Given the description of an element on the screen output the (x, y) to click on. 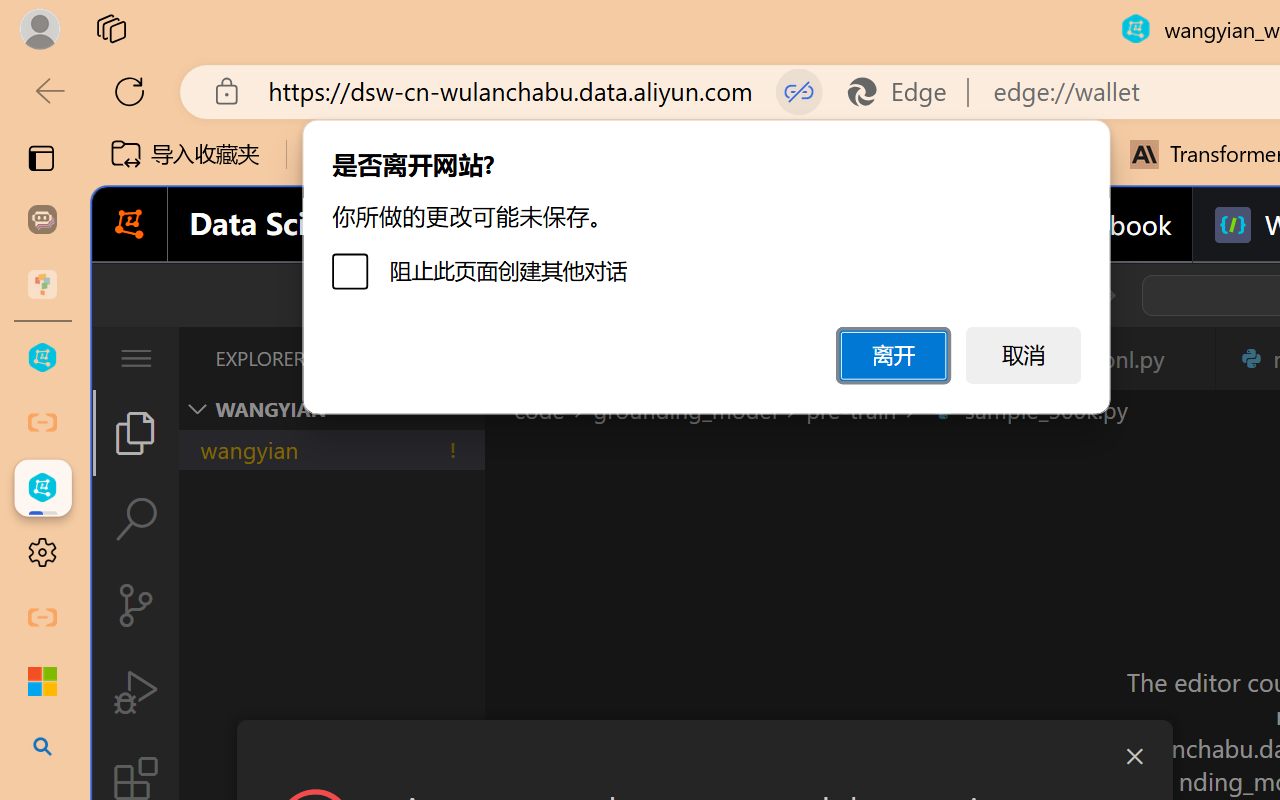
Class: actions-container (703, 756)
Close Dialog (1133, 756)
wangyian_webcrawler - DSW (42, 487)
Microsoft security help and learning (42, 681)
wangyian_dsw - DSW (42, 357)
Class: menubar compact overflow-menu-only (135, 358)
Search (Ctrl+Shift+F) (135, 519)
